Given the description of an element on the screen output the (x, y) to click on. 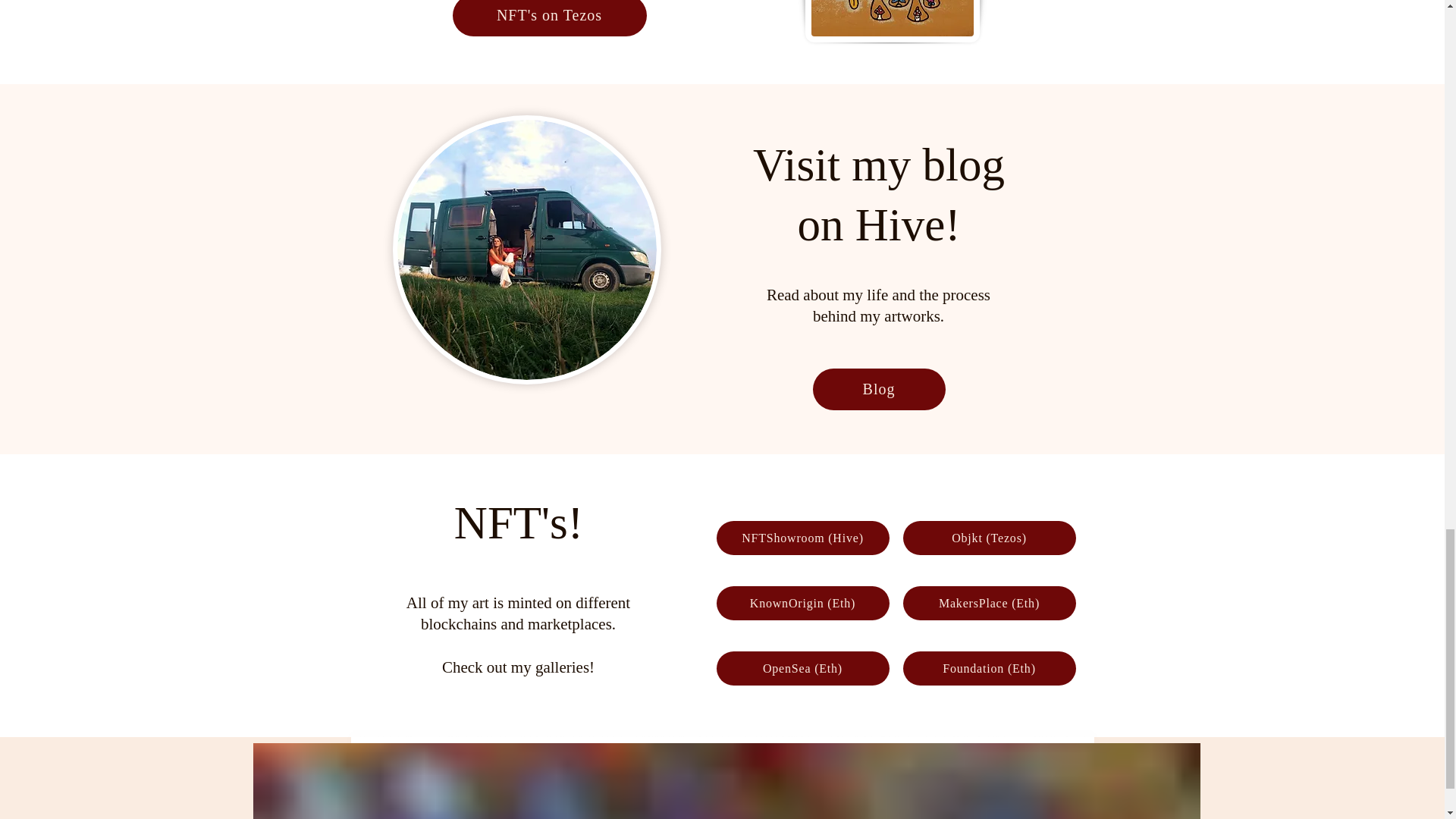
Ana and Penny (527, 249)
Ocre (892, 21)
Blog (878, 389)
NFT's on Tezos (548, 18)
